Given the description of an element on the screen output the (x, y) to click on. 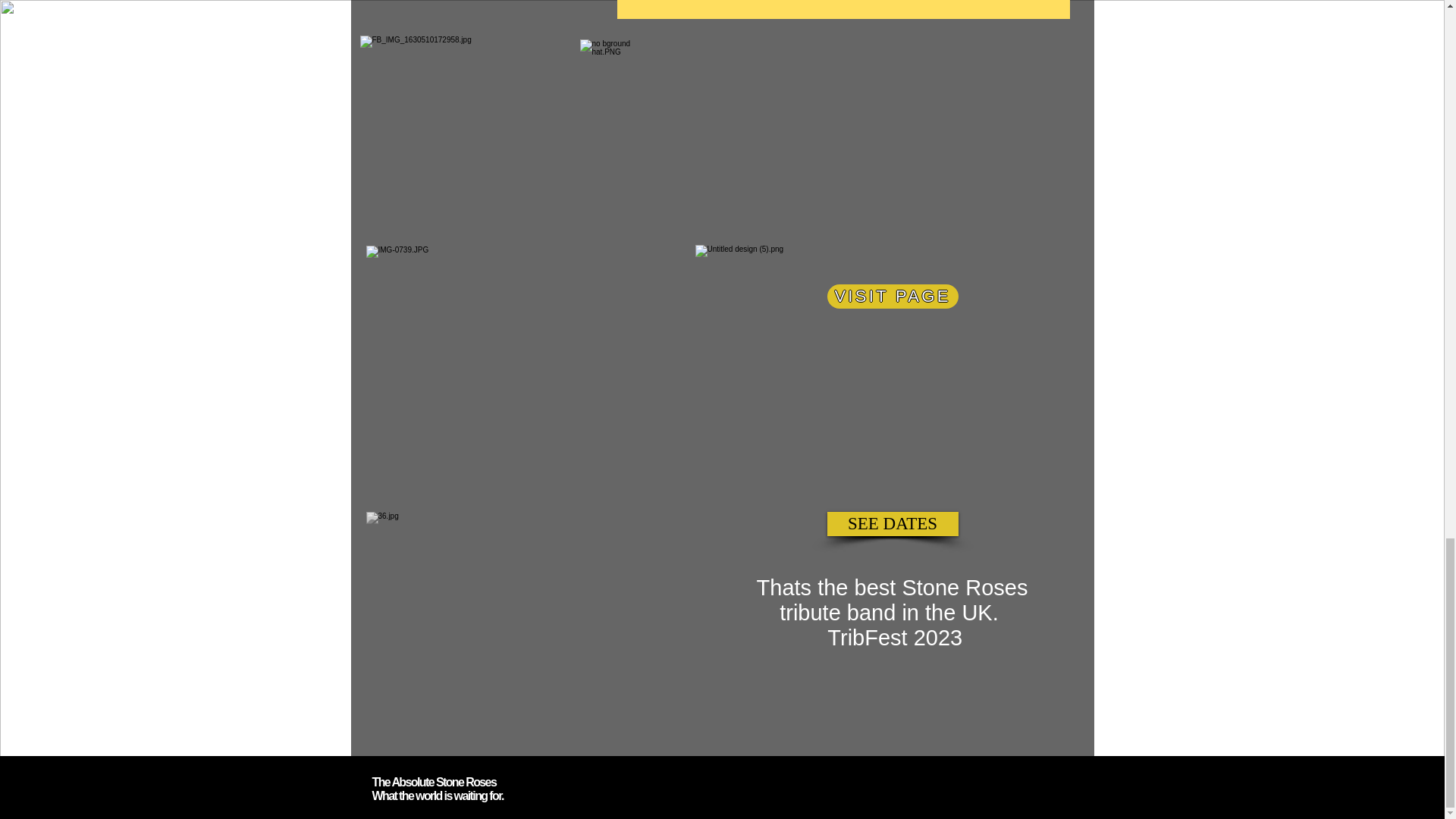
External YouTube (884, 143)
SEE DATES (892, 523)
VISIT PAGE (892, 296)
